Given the description of an element on the screen output the (x, y) to click on. 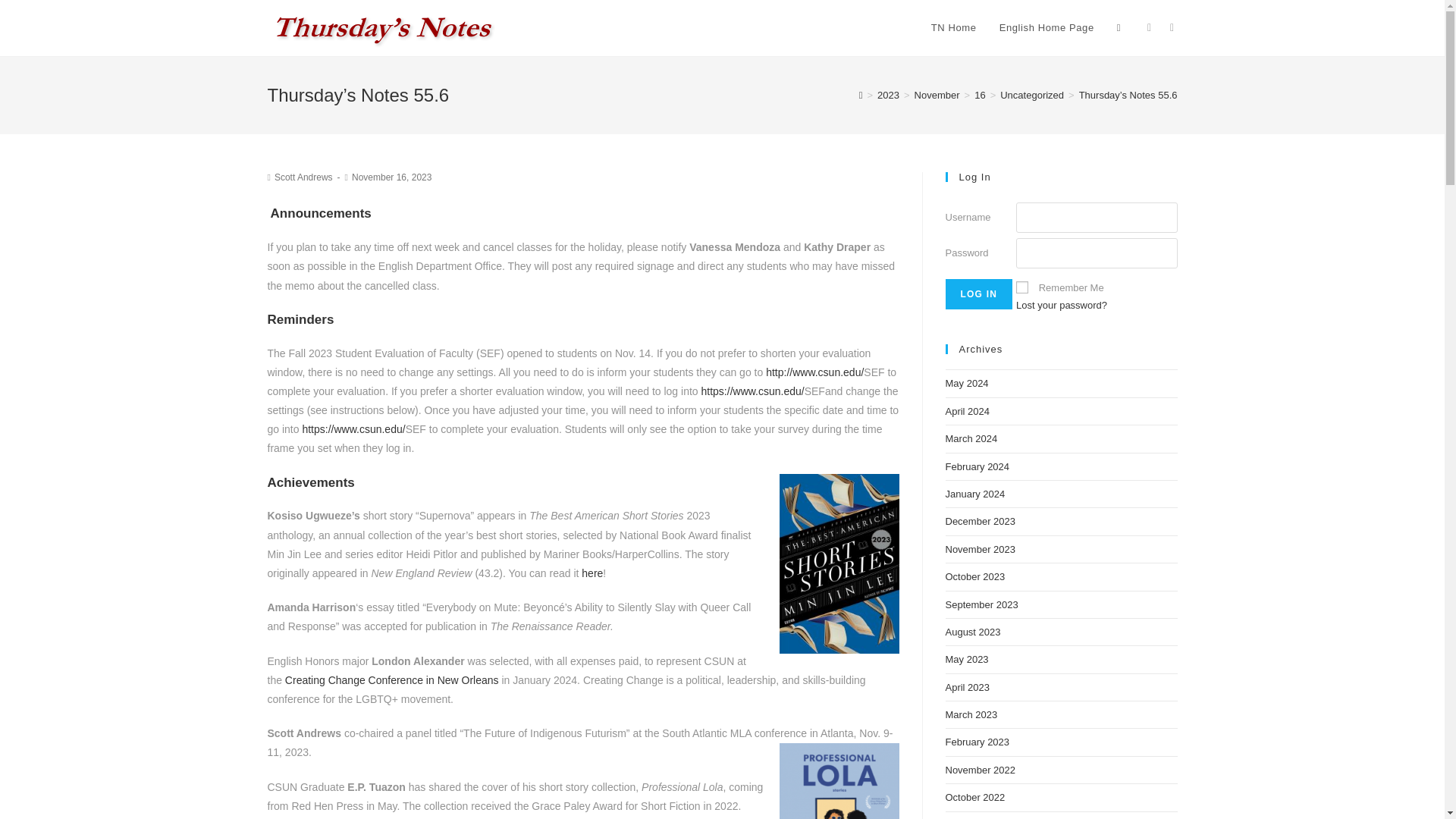
here (591, 573)
Log In (977, 294)
2023 (888, 94)
TN Home (954, 28)
English Home Page (1046, 28)
16 (979, 94)
Log In (977, 294)
Posts by Scott Andrews (304, 176)
March 2024 (970, 438)
April 2024 (967, 410)
